Given the description of an element on the screen output the (x, y) to click on. 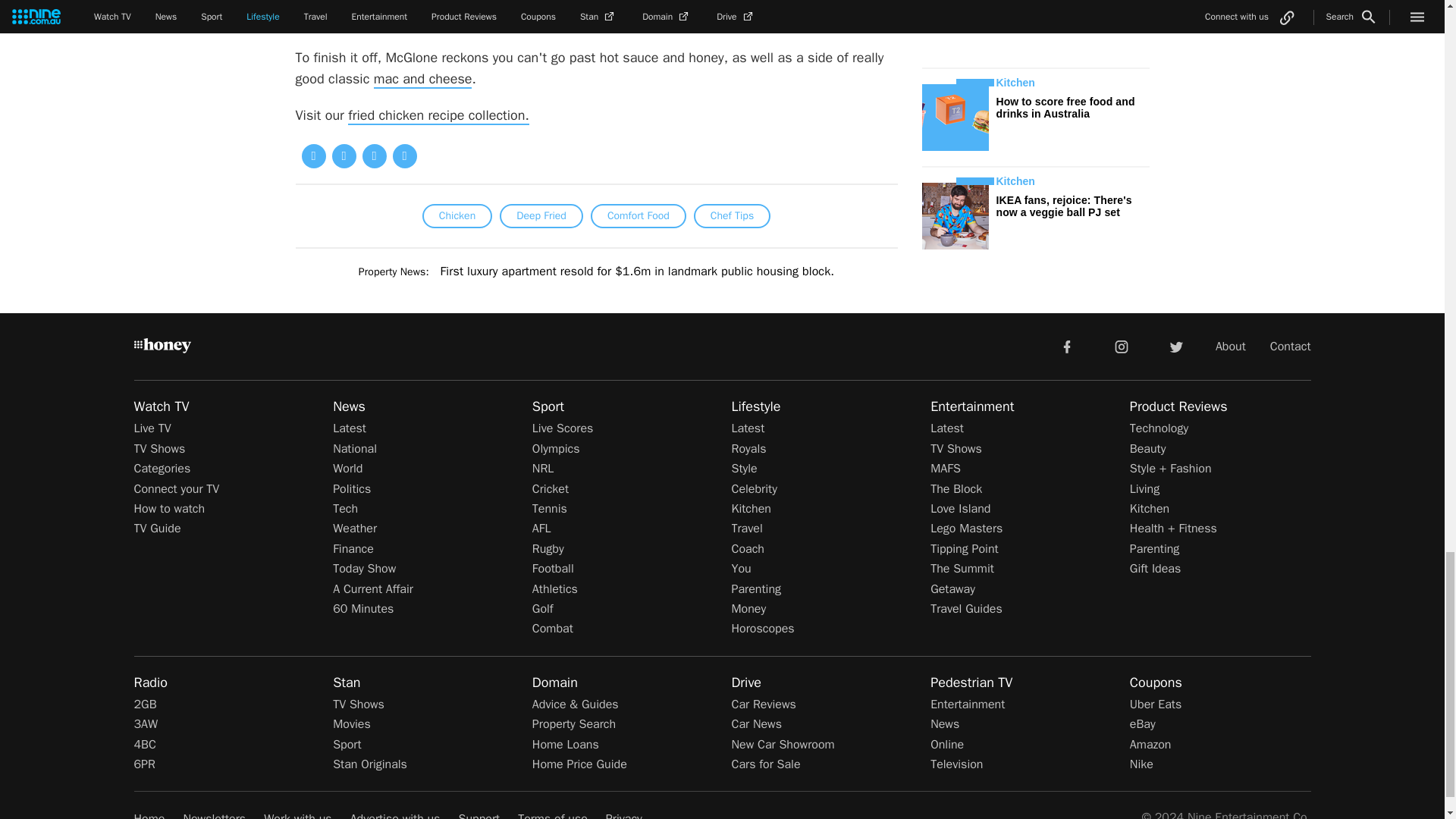
mac and cheese (422, 79)
twitter (1175, 346)
facebook (1066, 346)
instagram (1121, 346)
fried chicken recipe collection. (438, 116)
